Given the description of an element on the screen output the (x, y) to click on. 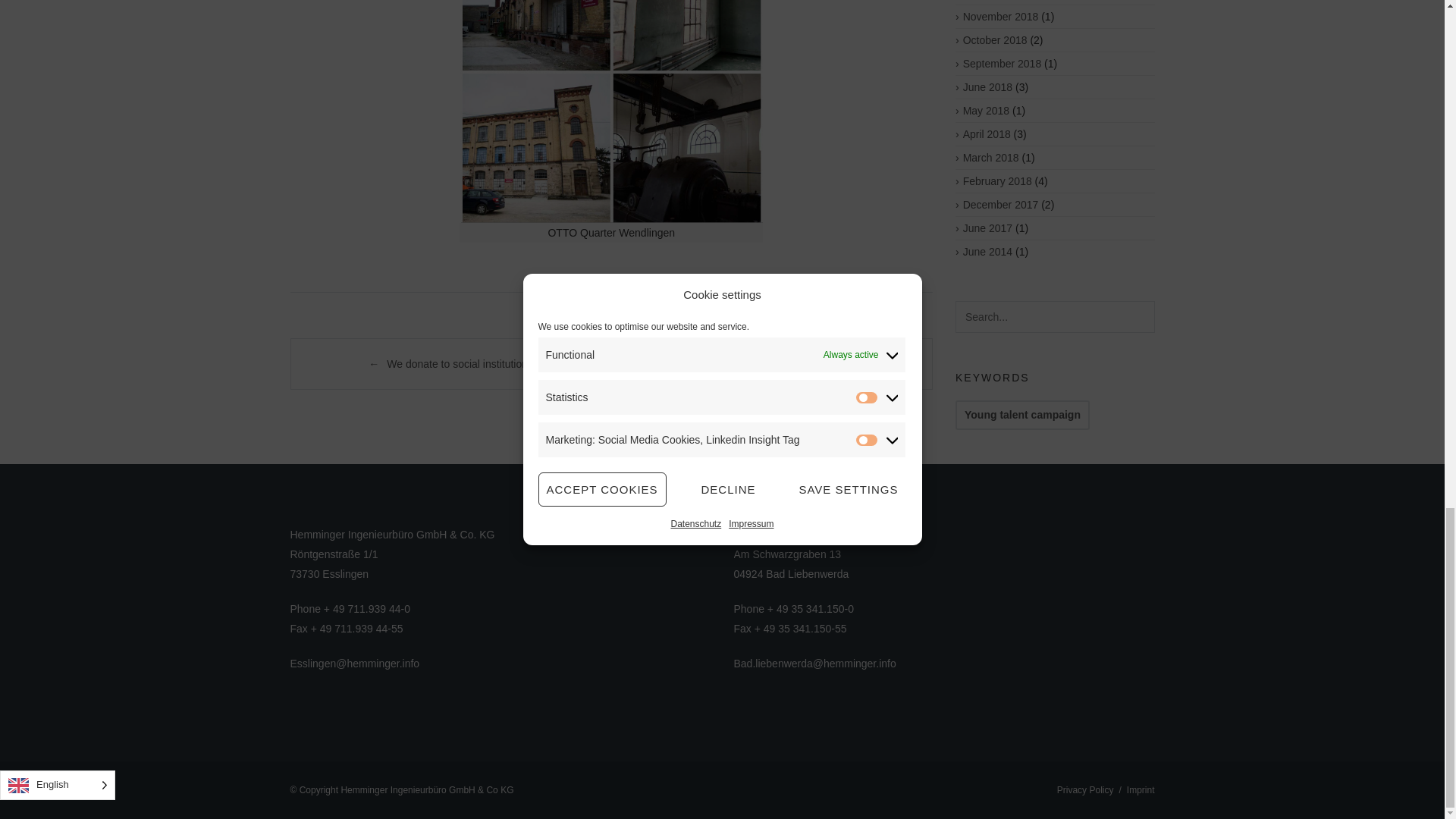
E-mail (814, 663)
